Given the description of an element on the screen output the (x, y) to click on. 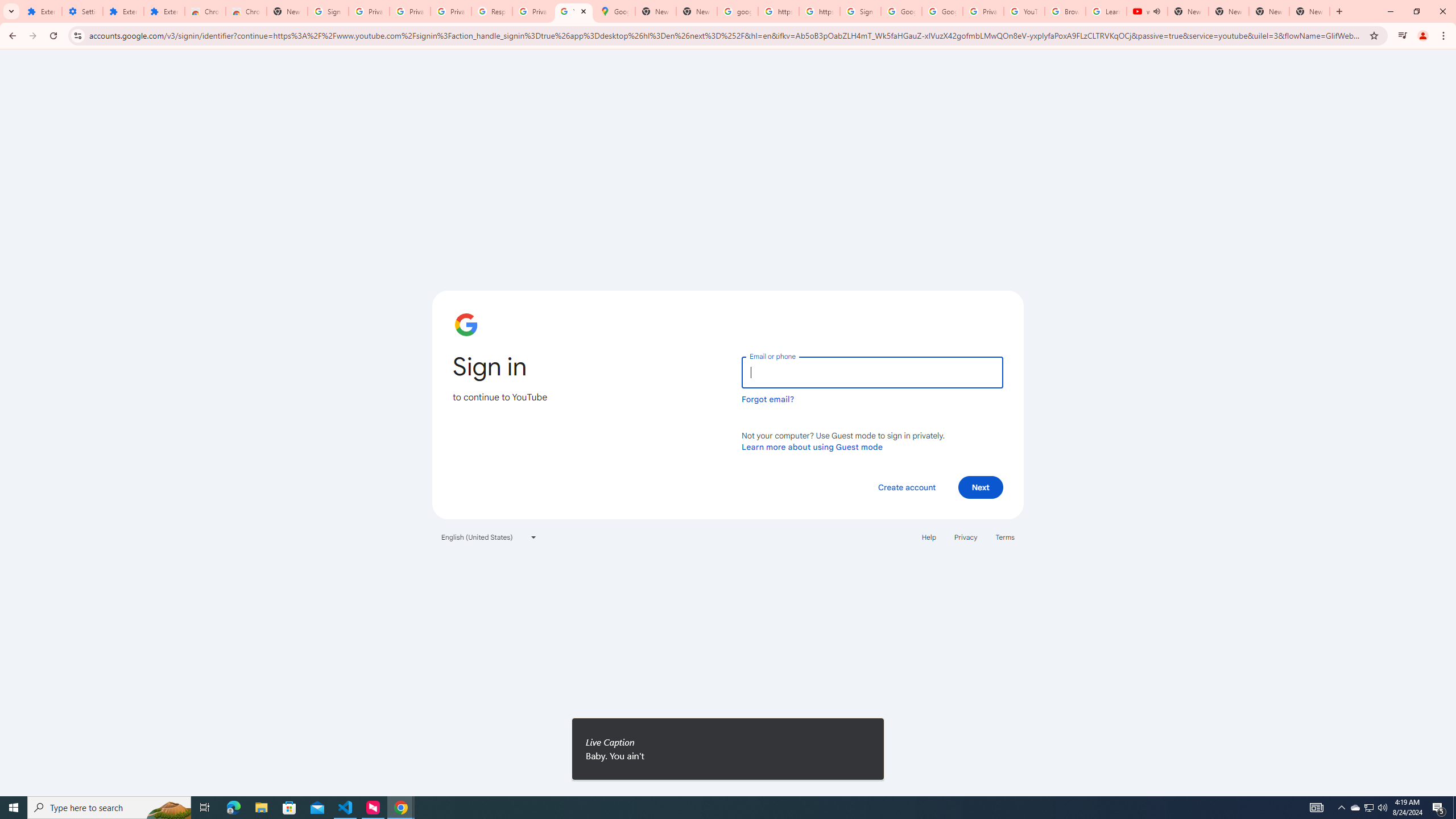
Extensions (122, 11)
Extensions (41, 11)
YouTube (1023, 11)
Extensions (163, 11)
Google Maps (614, 11)
